Given the description of an element on the screen output the (x, y) to click on. 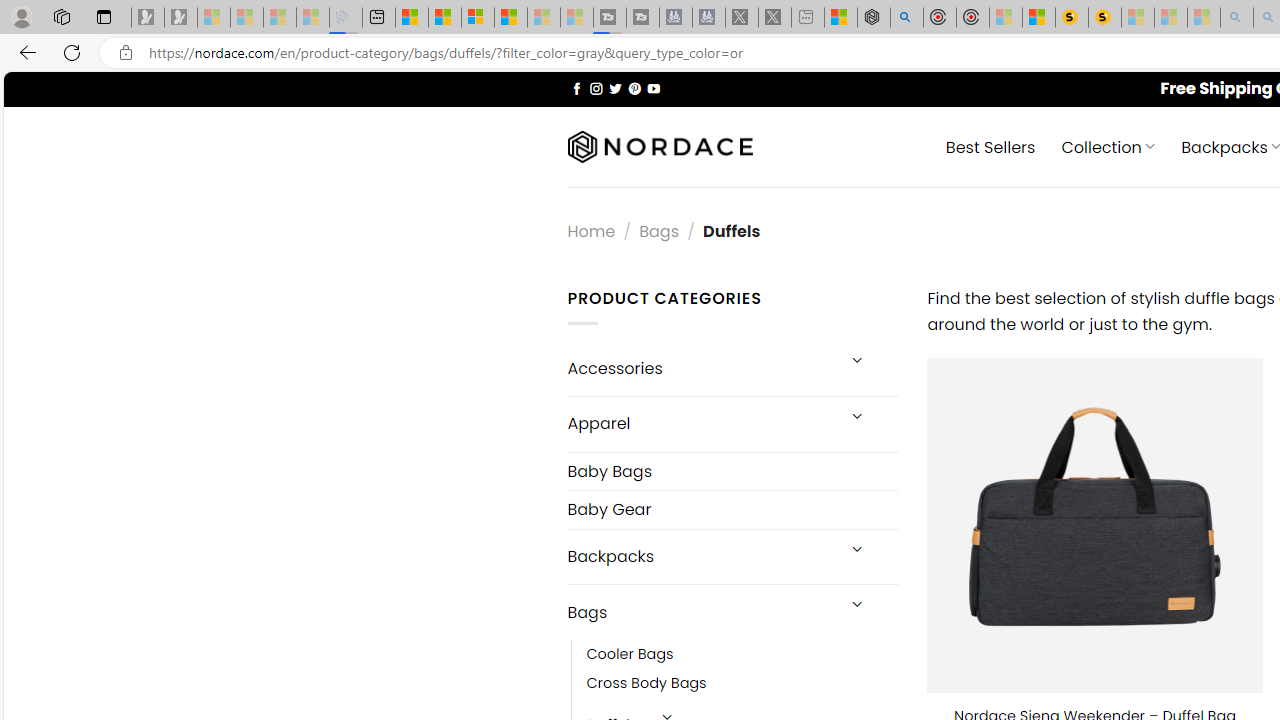
Cooler Bags (742, 655)
Home (591, 230)
